Given the description of an element on the screen output the (x, y) to click on. 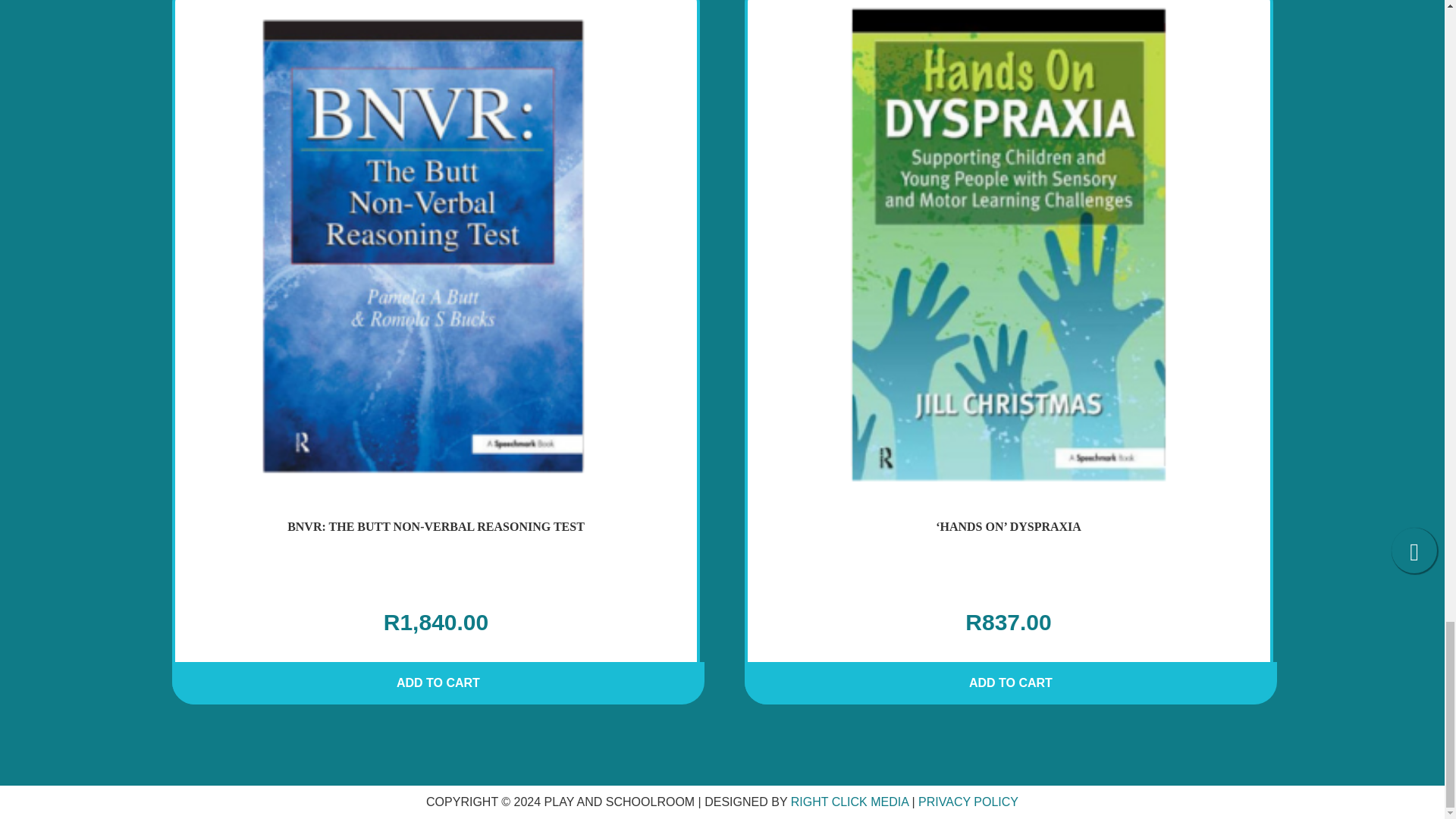
ADD TO CART (437, 689)
PRIVACY POLICY (967, 801)
RIGHT CLICK MEDIA (849, 801)
ADD TO CART (1011, 688)
